Given the description of an element on the screen output the (x, y) to click on. 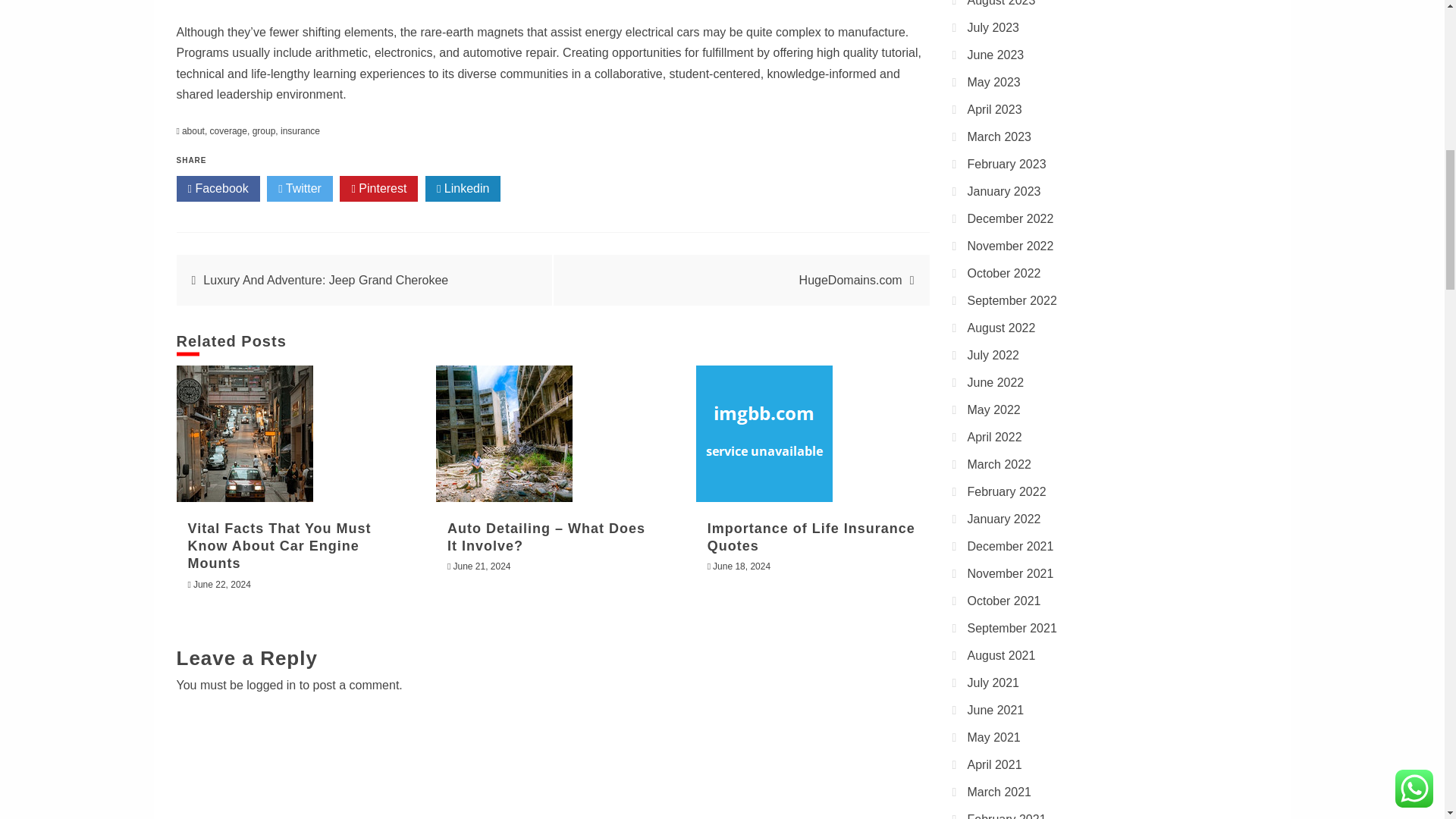
HugeDomains.com (850, 279)
Twitter (299, 188)
Vital Facts That You Must Know About Car Engine Mounts (244, 433)
Vital Facts That You Must Know About Car Engine Mounts (279, 545)
coverage (228, 131)
Luxury And Adventure: Jeep Grand Cherokee (325, 279)
Pinterest (378, 188)
group (263, 131)
June 21, 2024 (481, 566)
about (193, 131)
Importance of Life Insurance Quotes (763, 433)
insurance (300, 131)
Facebook (217, 188)
Linkedin (462, 188)
June 22, 2024 (221, 584)
